Given the description of an element on the screen output the (x, y) to click on. 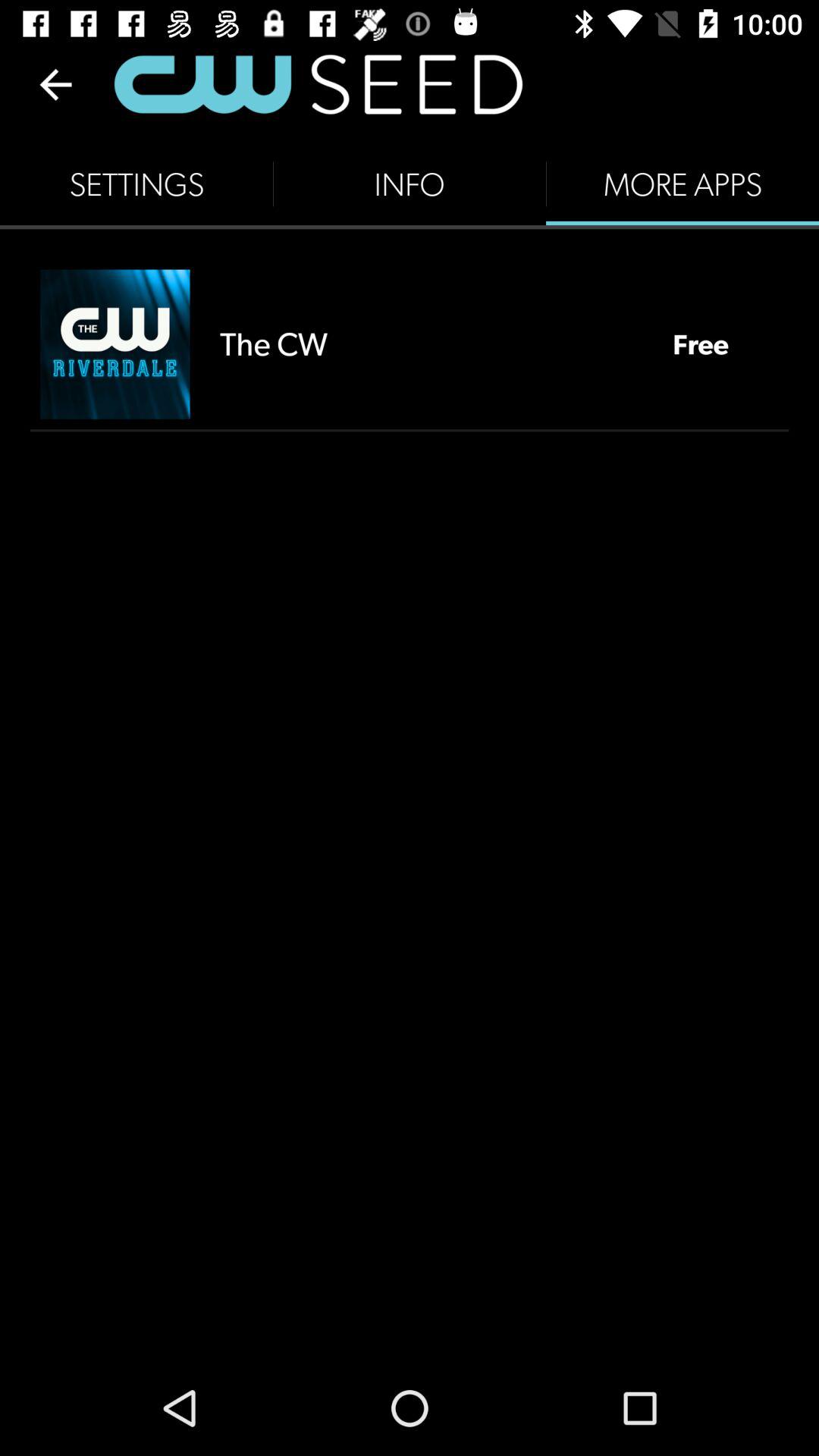
tap the item next to settings icon (409, 184)
